Given the description of an element on the screen output the (x, y) to click on. 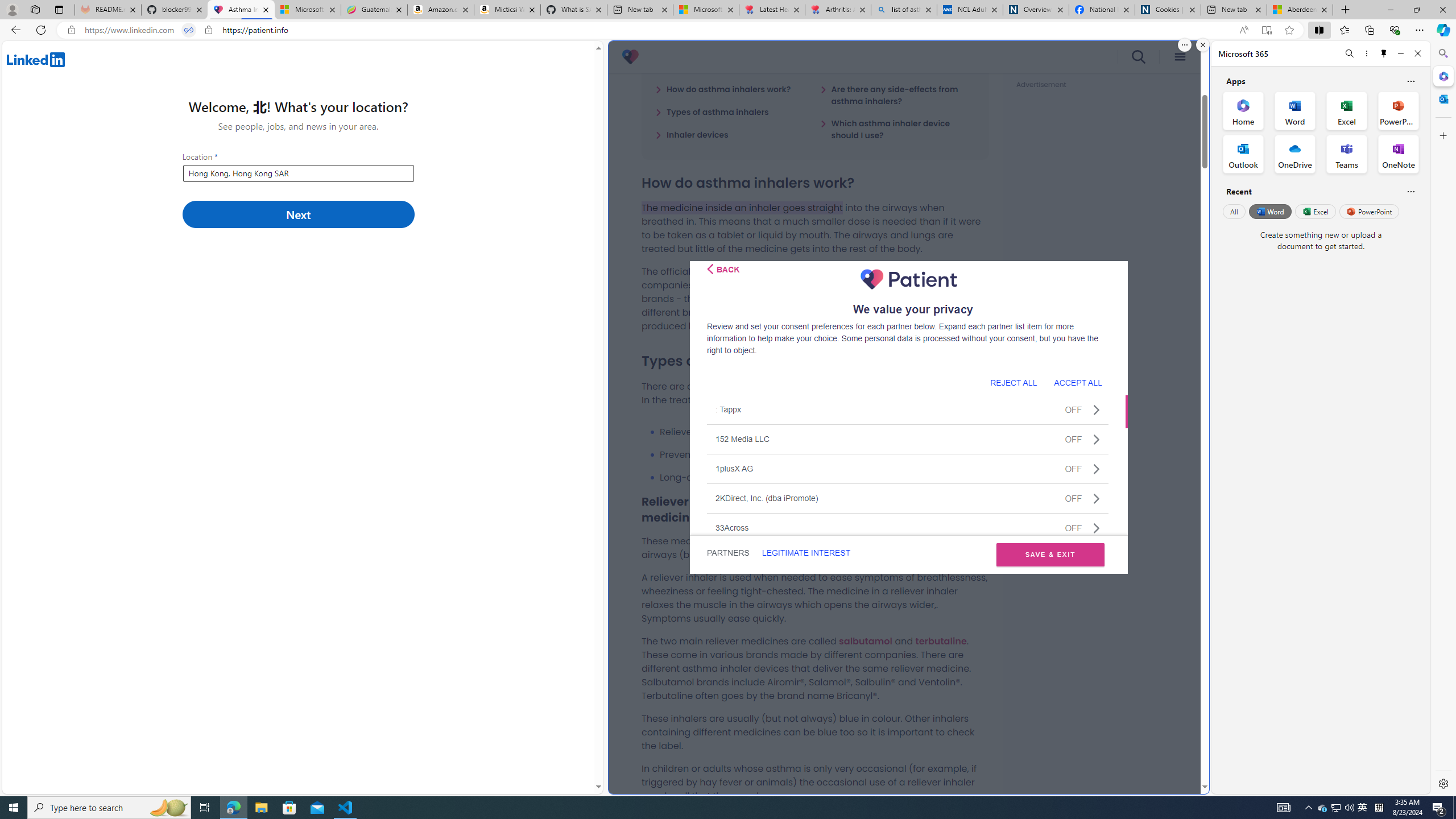
Excel Office App (1346, 110)
Which asthma inhaler device should I use? (897, 129)
